Given the description of an element on the screen output the (x, y) to click on. 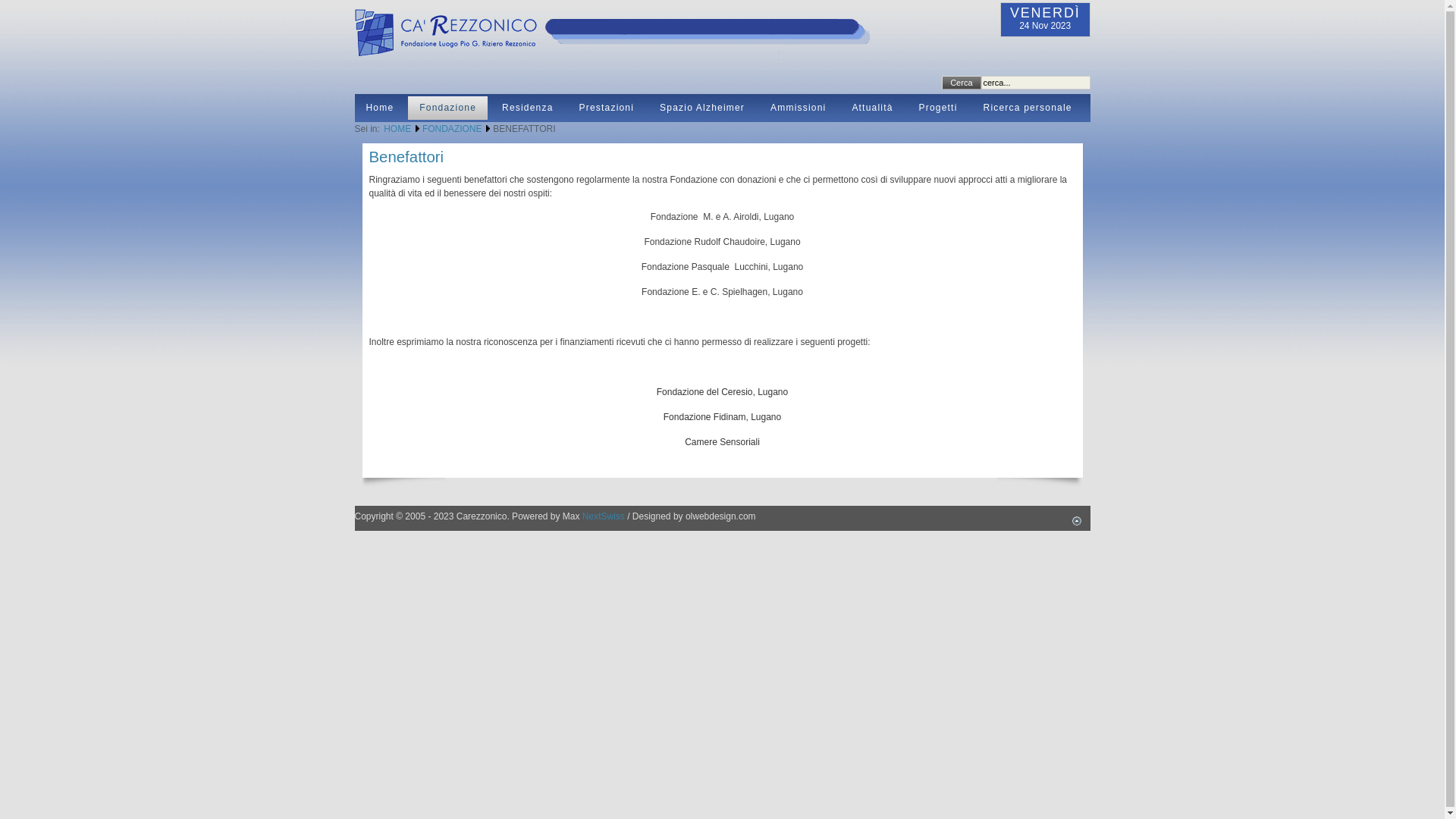
NextSwiss Element type: text (603, 516)
Home Element type: text (379, 108)
Spazio Alzheimer Element type: text (702, 108)
Ricerca personale Element type: text (1027, 108)
Prestazioni Element type: text (606, 108)
Residenza Element type: text (527, 108)
Go to top Element type: hover (1076, 519)
Progetti Element type: text (938, 108)
Ammissioni Element type: text (798, 108)
Cerca Element type: text (960, 82)
FONDAZIONE Element type: text (452, 128)
Fondazione Element type: text (447, 108)
HOME Element type: text (397, 128)
